Given the description of an element on the screen output the (x, y) to click on. 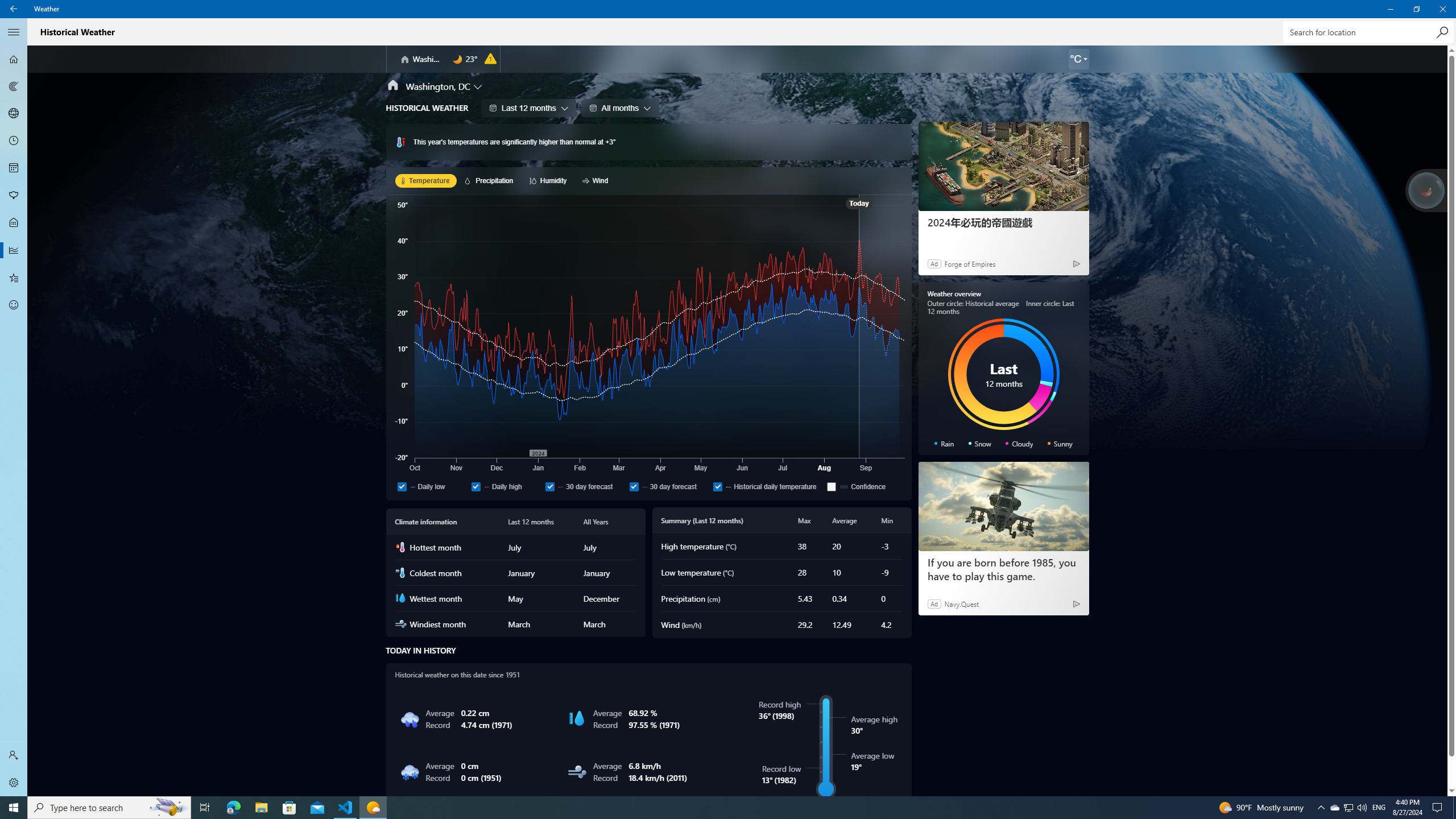
Search (1442, 31)
Microsoft Edge (233, 807)
Task View (204, 807)
Maps - Not Selected (13, 85)
Hourly Forecast - Not Selected (13, 140)
User Promoted Notification Area (1347, 807)
Maps - Not Selected (1347, 807)
Historical Weather - Not Selected (13, 85)
Forecast - Not Selected (13, 249)
Search for location (13, 58)
Forecast - Not Selected (1367, 32)
Type here to search (13, 58)
3D Maps - Not Selected (108, 807)
